Given the description of an element on the screen output the (x, y) to click on. 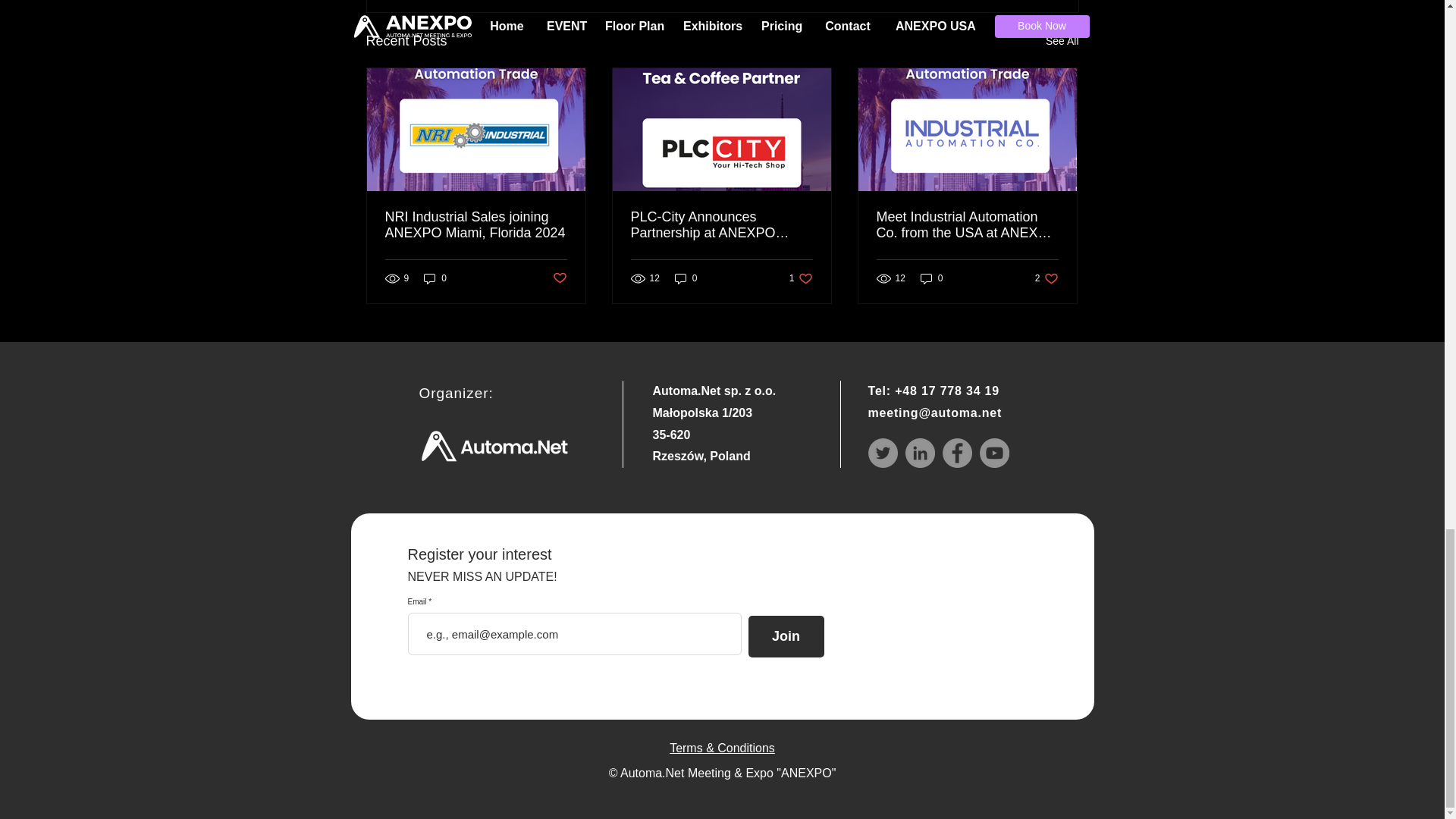
0 (685, 278)
Post not marked as liked (800, 278)
NRI Industrial Sales joining ANEXPO Miami, Florida 2024 (558, 278)
0 (476, 224)
PLC-City Announces Partnership at ANEXPO Warsaw 2025! (435, 278)
See All (721, 224)
